Given the description of an element on the screen output the (x, y) to click on. 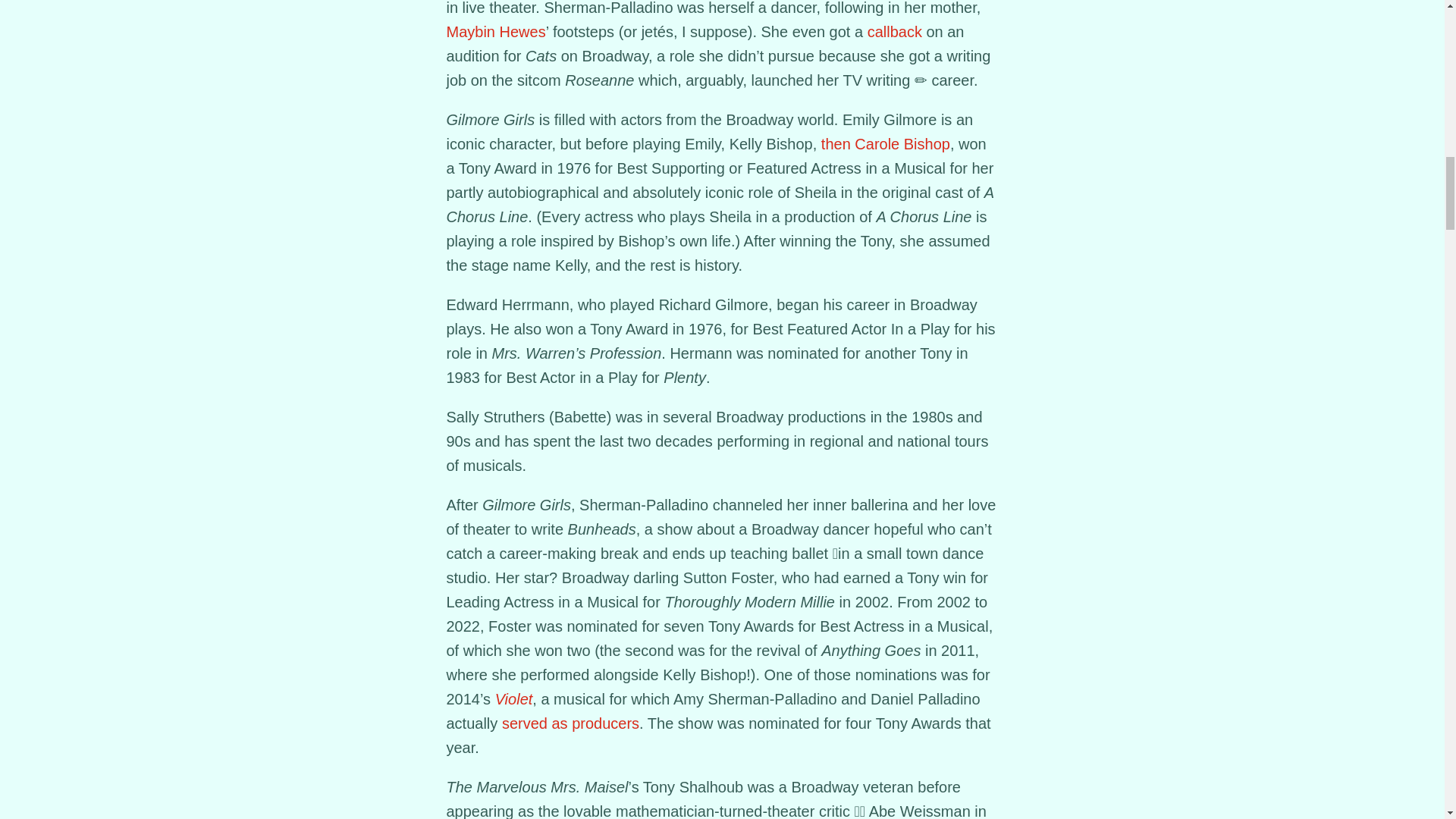
then Carole Bishop (885, 143)
served as producers (570, 723)
Maybin Hewes (494, 31)
Violet (513, 699)
callback (894, 31)
